Given the description of an element on the screen output the (x, y) to click on. 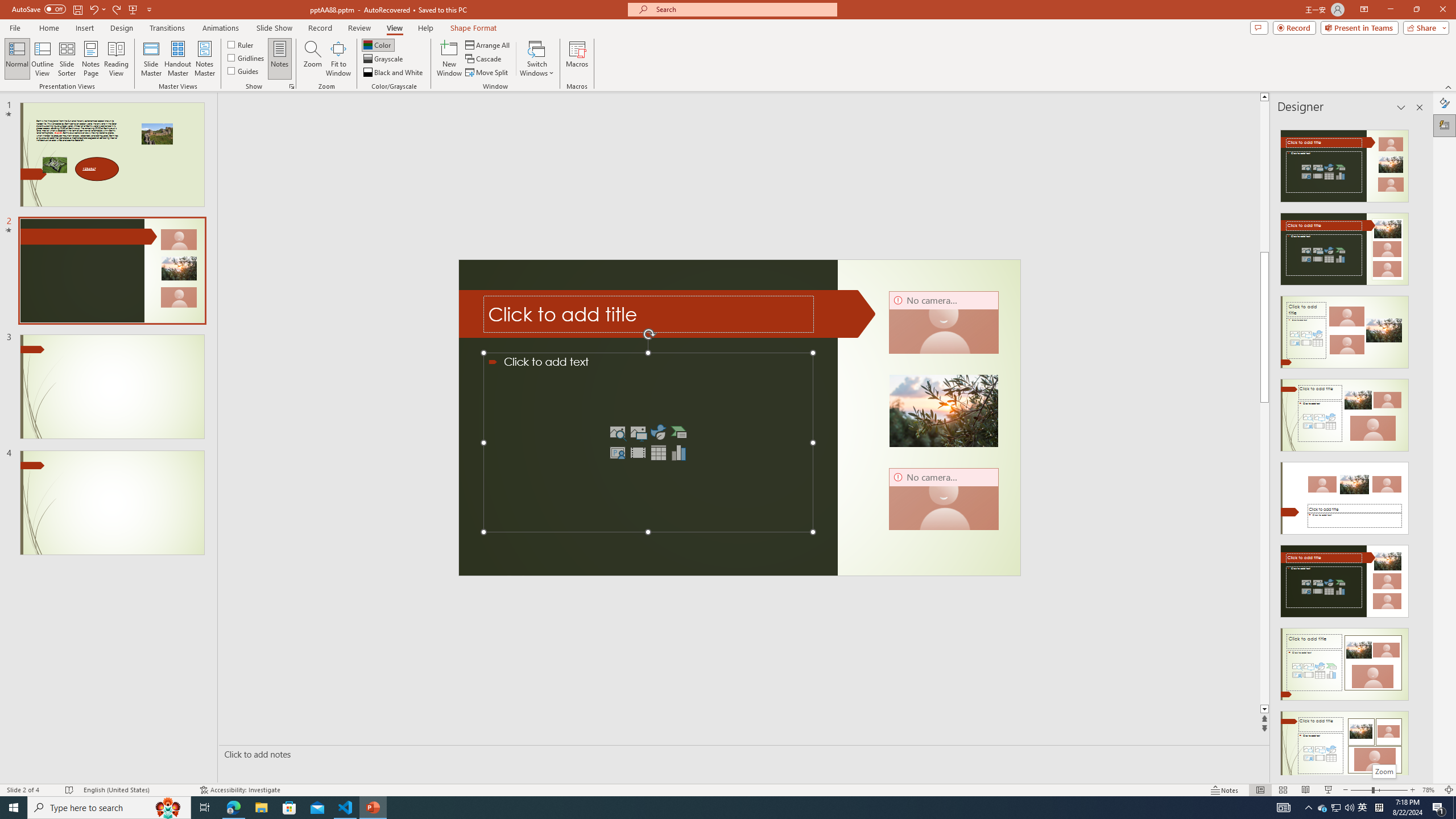
Color (377, 44)
Insert Cameo (617, 452)
Zoom... (312, 58)
Format Background (1444, 102)
Content Placeholder (647, 441)
